Given the description of an element on the screen output the (x, y) to click on. 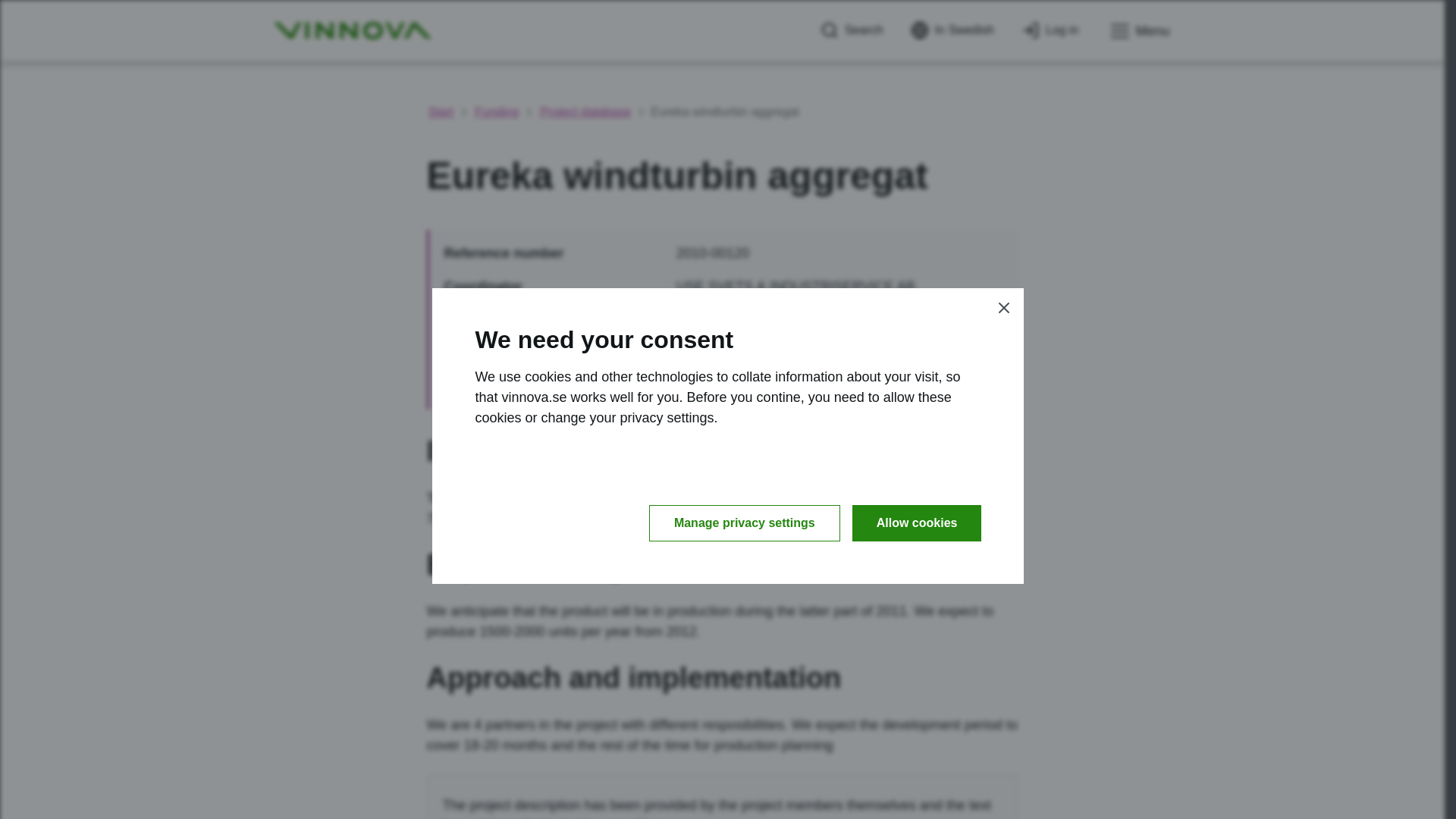
Log in (1049, 29)
Menu (1137, 31)
Vinnova logo, link to start page. (351, 29)
In Swedish (951, 29)
Menu (1137, 31)
Search (851, 29)
